Given the description of an element on the screen output the (x, y) to click on. 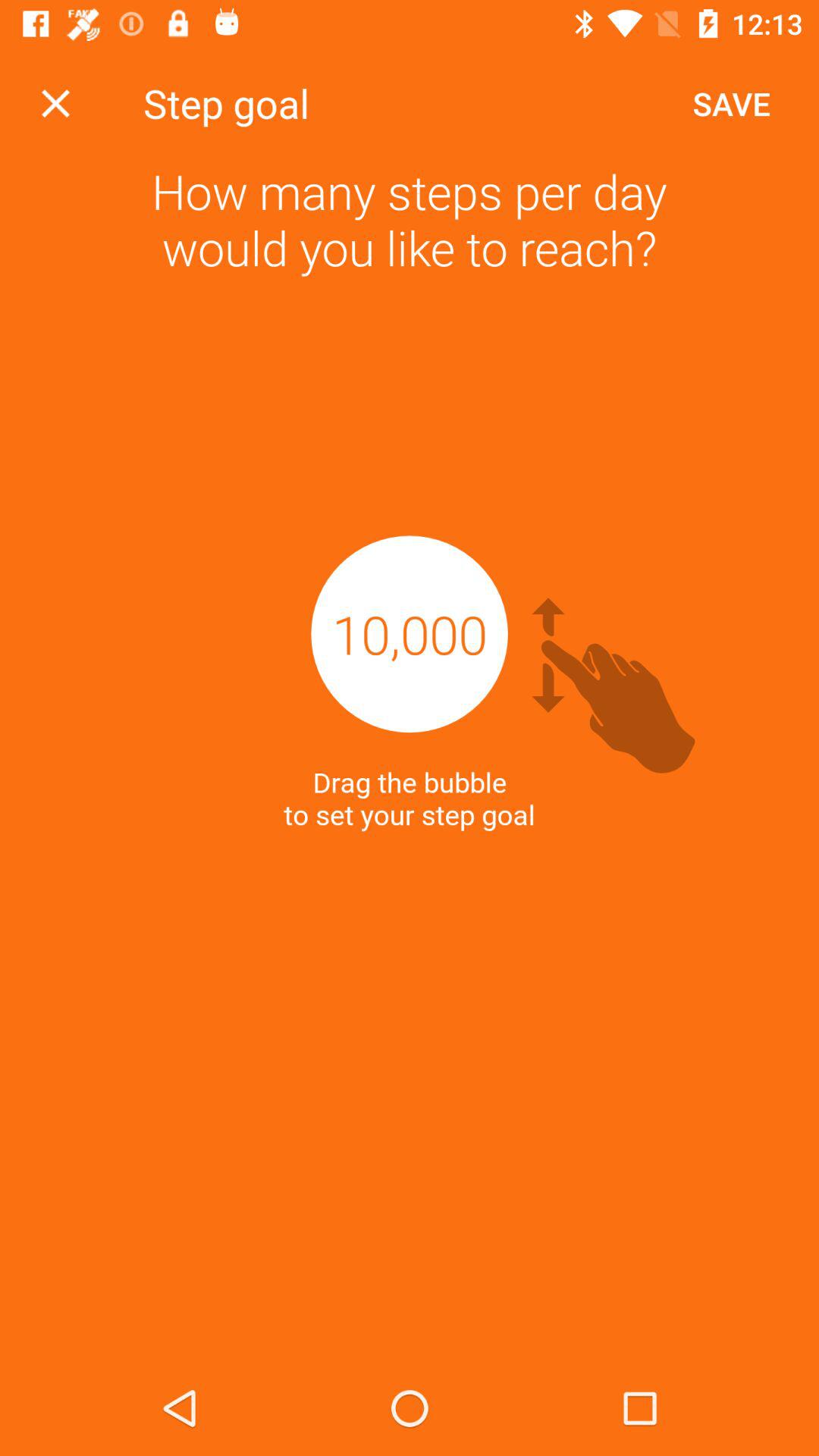
press the item at the top right corner (731, 103)
